Given the description of an element on the screen output the (x, y) to click on. 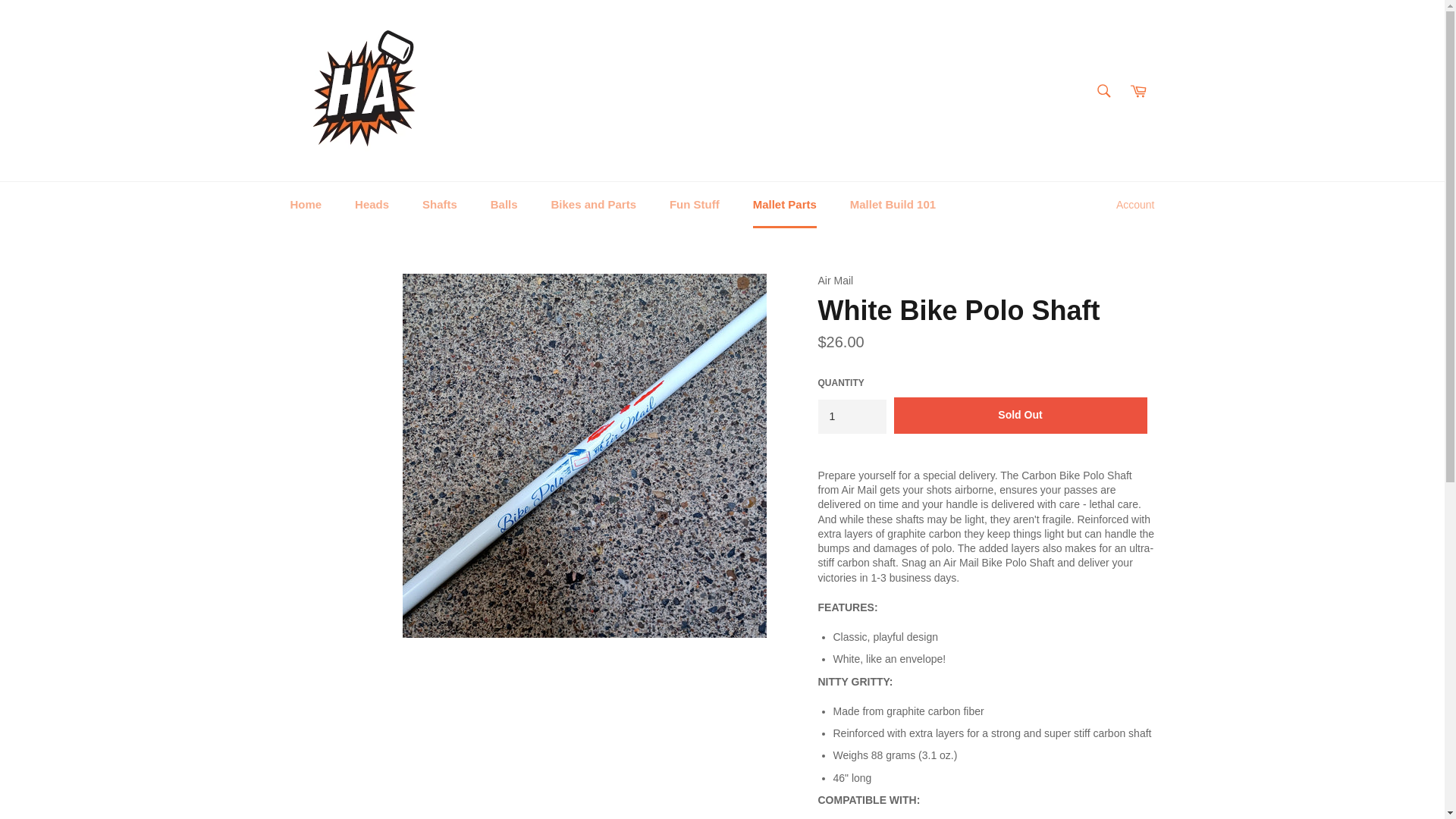
Sold Out (1020, 415)
Shafts (439, 204)
Bikes and Parts (592, 204)
Account (1134, 204)
Search (1103, 90)
Fun Stuff (694, 204)
Balls (504, 204)
Heads (371, 204)
Home (305, 204)
1 (850, 416)
